Given the description of an element on the screen output the (x, y) to click on. 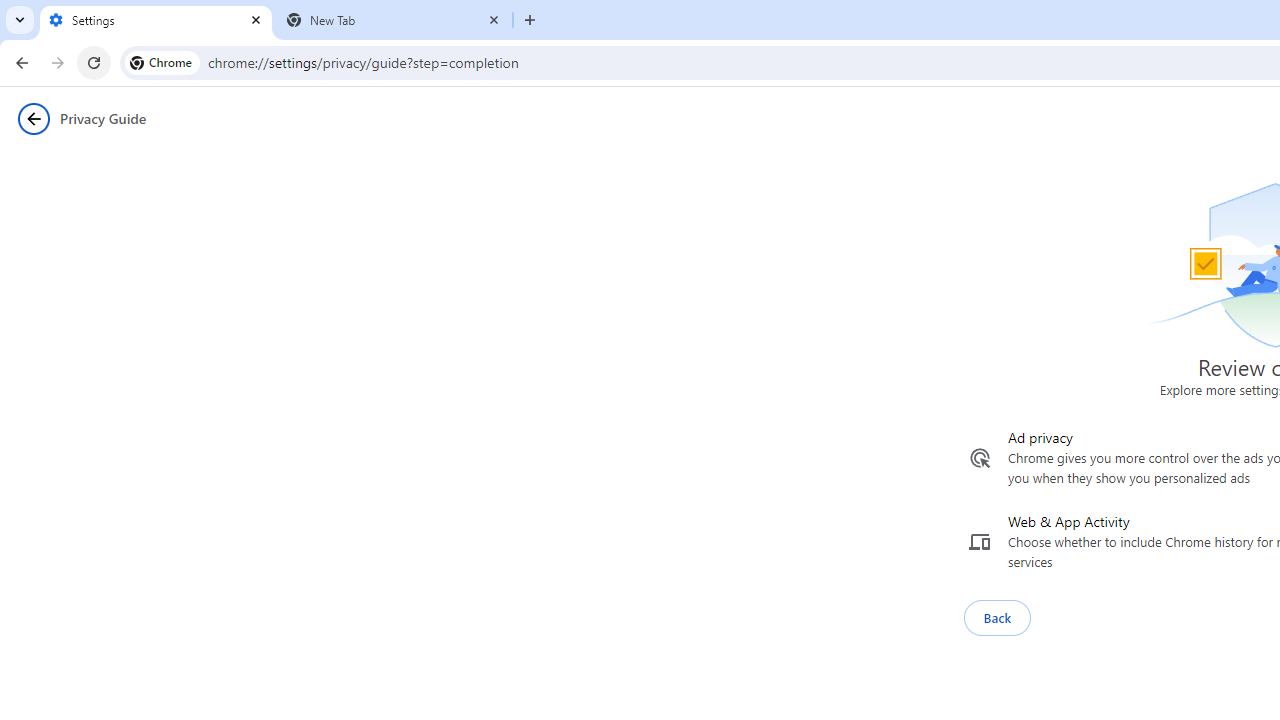
Privacy Guide back button (33, 118)
New Tab (394, 20)
Settings (156, 20)
